Given the description of an element on the screen output the (x, y) to click on. 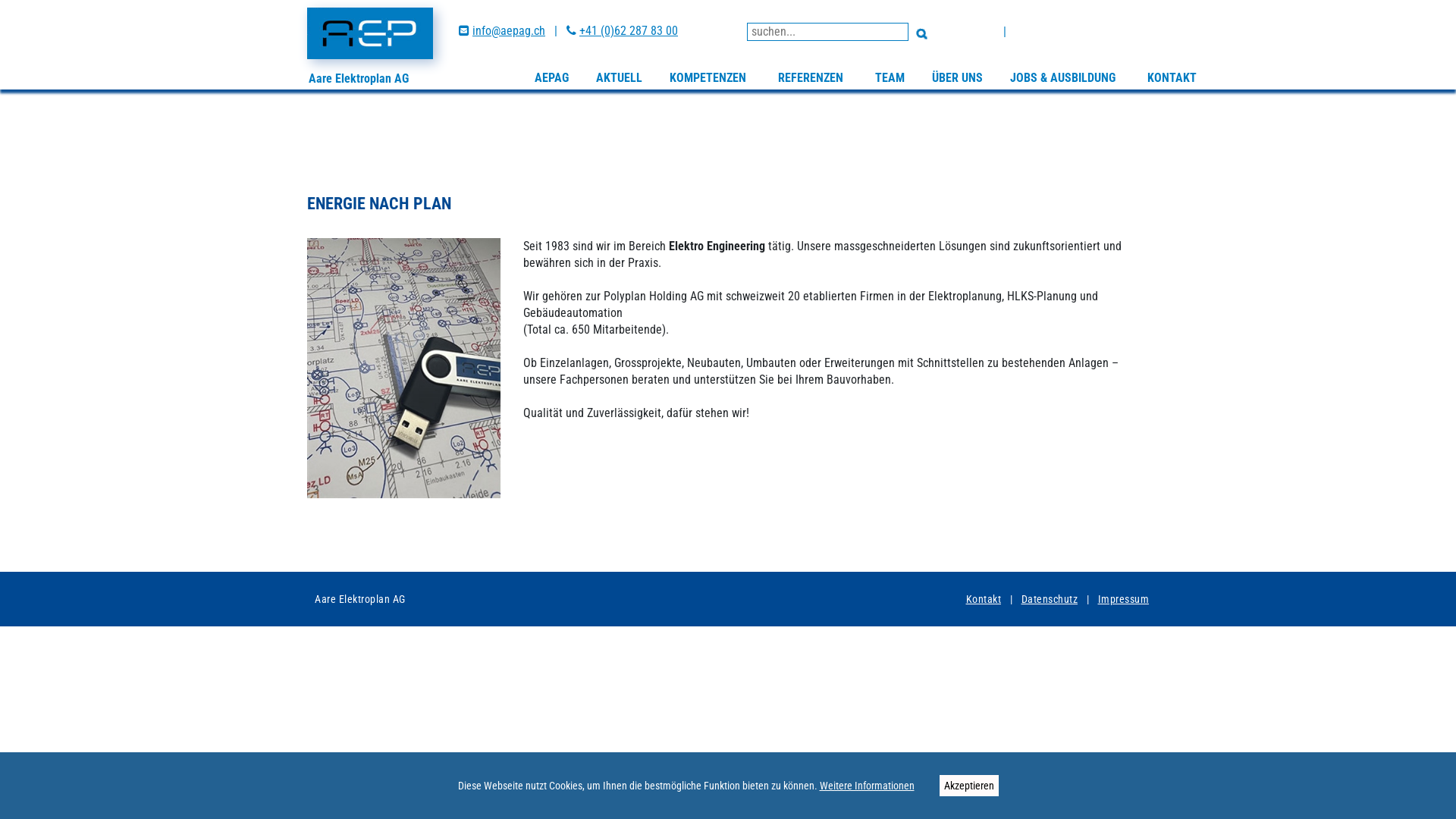
KONTAKT Element type: text (1171, 78)
Kontakt Element type: text (983, 599)
Suchtext entfernen Element type: hover (894, 52)
Energie nach Plan Element type: hover (403, 368)
+
KOMPETENZEN Element type: text (709, 78)
info@aepag.ch Element type: text (508, 30)
AEPAG Element type: text (551, 78)
anmelden Element type: text (969, 31)
+41 (0)62 287 83 00 Element type: text (628, 30)
Datenschutz Element type: text (1048, 599)
Aare Elektroplan AG Element type: hover (370, 33)
Mein Profil Element type: text (1041, 31)
AKTUELL Element type: text (618, 78)
+
JOBS & AUSBILDUNG Element type: text (1064, 78)
Akzeptieren Element type: text (967, 785)
Impressum Element type: text (1123, 599)
TEAM Element type: text (889, 78)
+
REFERENZEN Element type: text (812, 78)
Weitere Informationen Element type: text (866, 785)
